Given the description of an element on the screen output the (x, y) to click on. 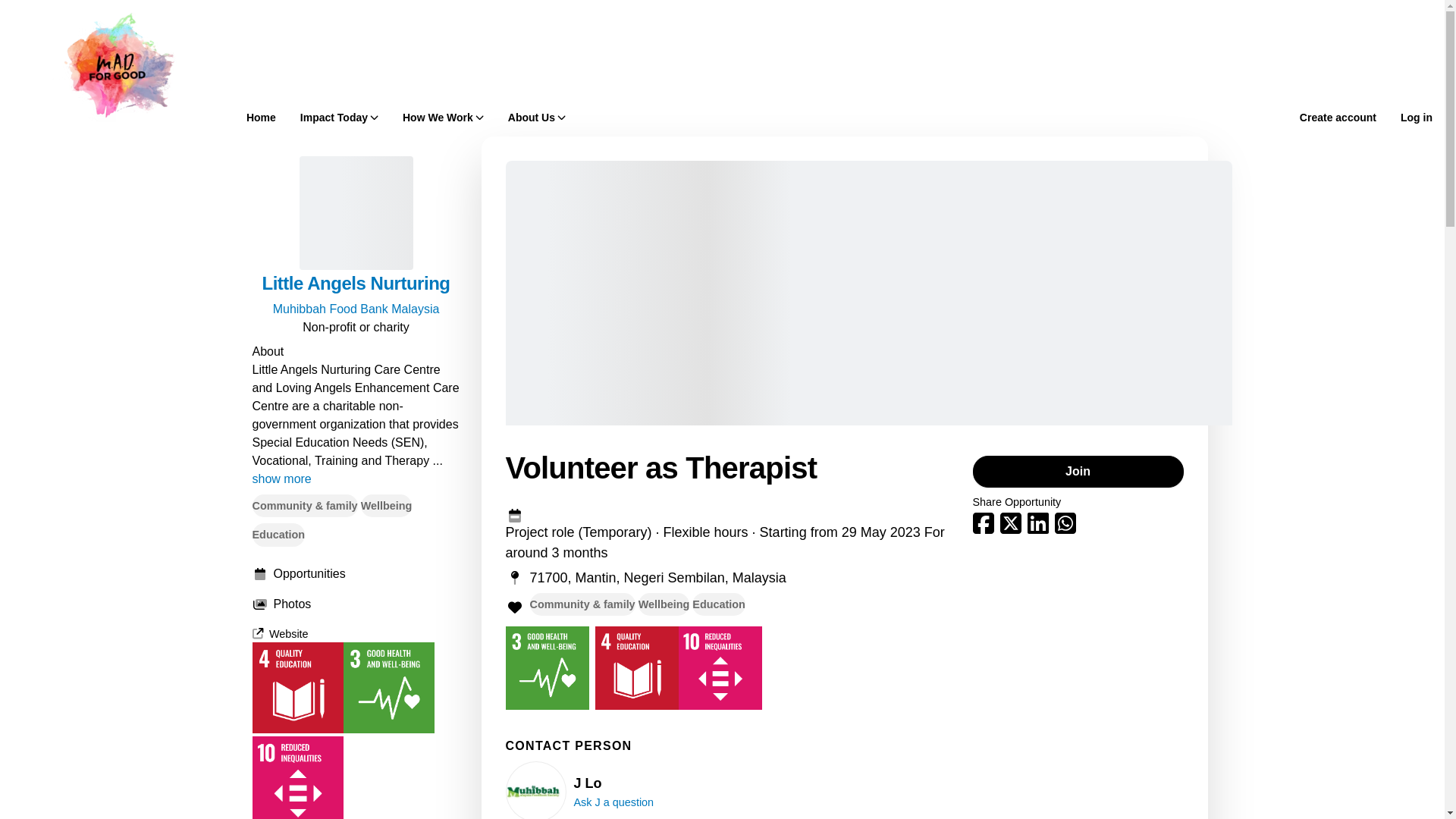
Little Angels Nurturing (355, 283)
Ask J a question (613, 802)
Muhibbah Food Bank Malaysia (356, 308)
Website (279, 633)
Create account (1337, 117)
Photos (355, 604)
Join (1077, 471)
Opportunities (355, 574)
show more (281, 479)
Home (261, 117)
